Given the description of an element on the screen output the (x, y) to click on. 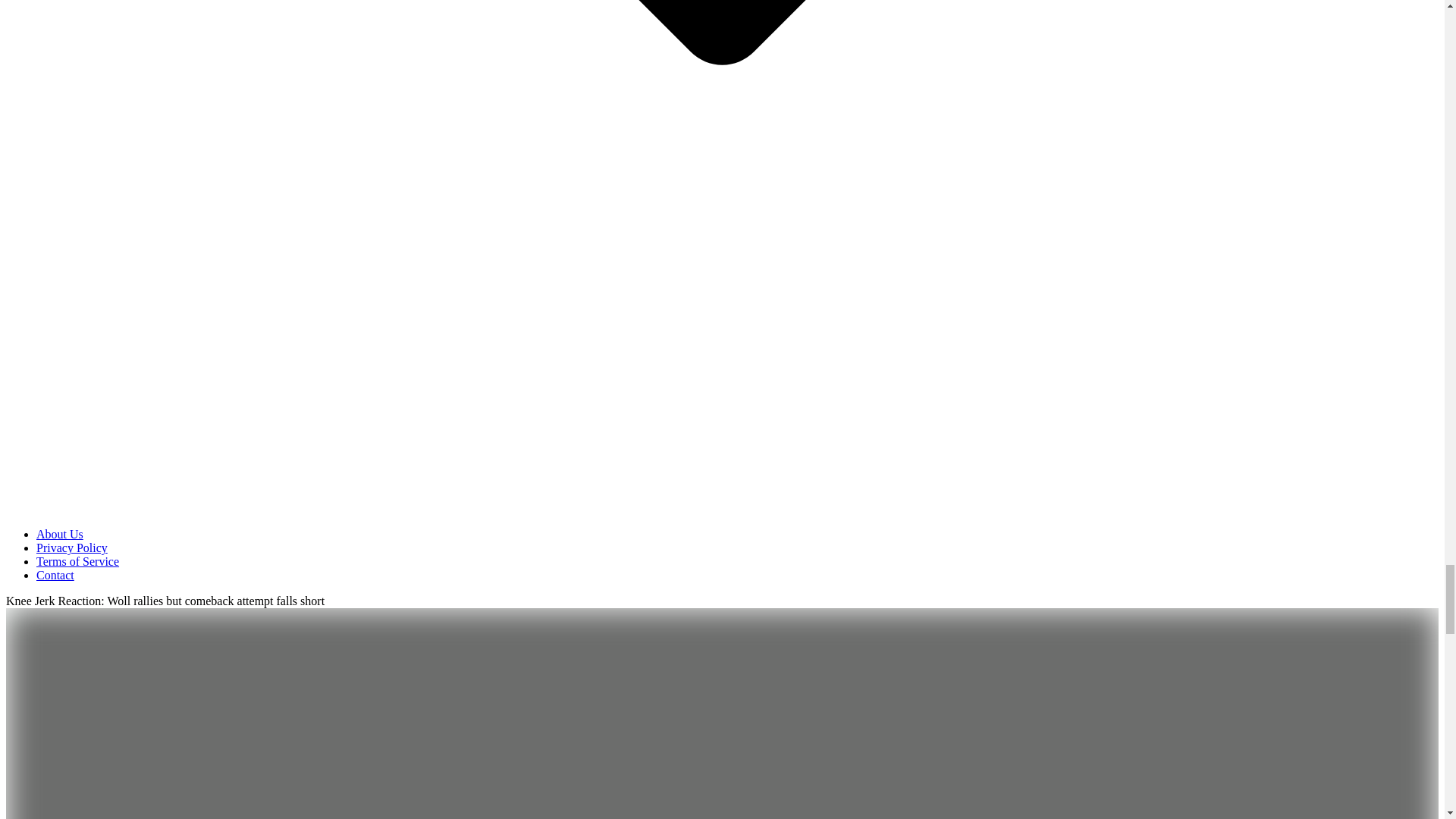
Contact (55, 574)
About Us (59, 533)
Terms of Service (77, 561)
Privacy Policy (71, 547)
